Given the description of an element on the screen output the (x, y) to click on. 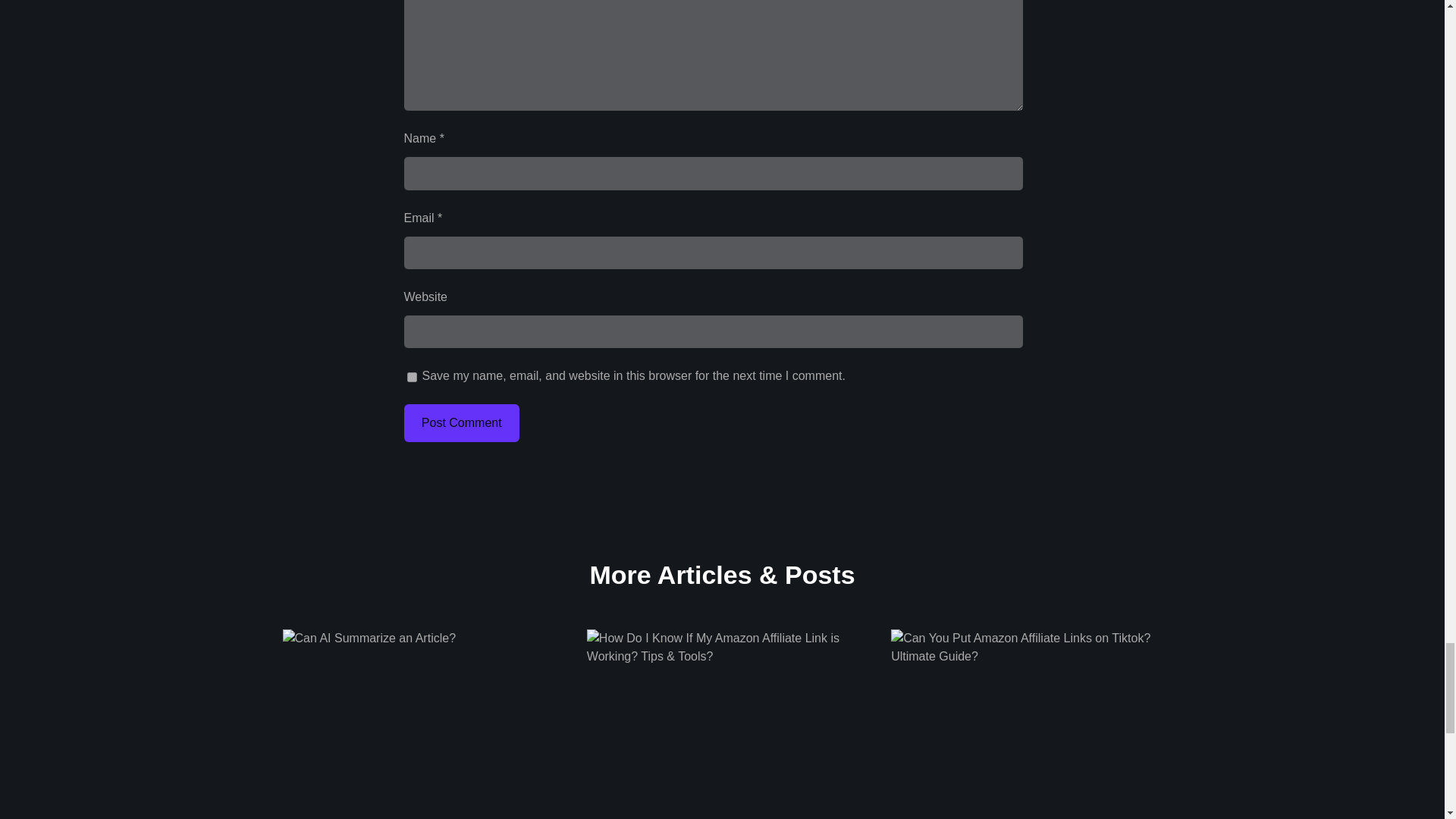
Post Comment (460, 422)
yes (411, 377)
Post Comment (460, 422)
